Given the description of an element on the screen output the (x, y) to click on. 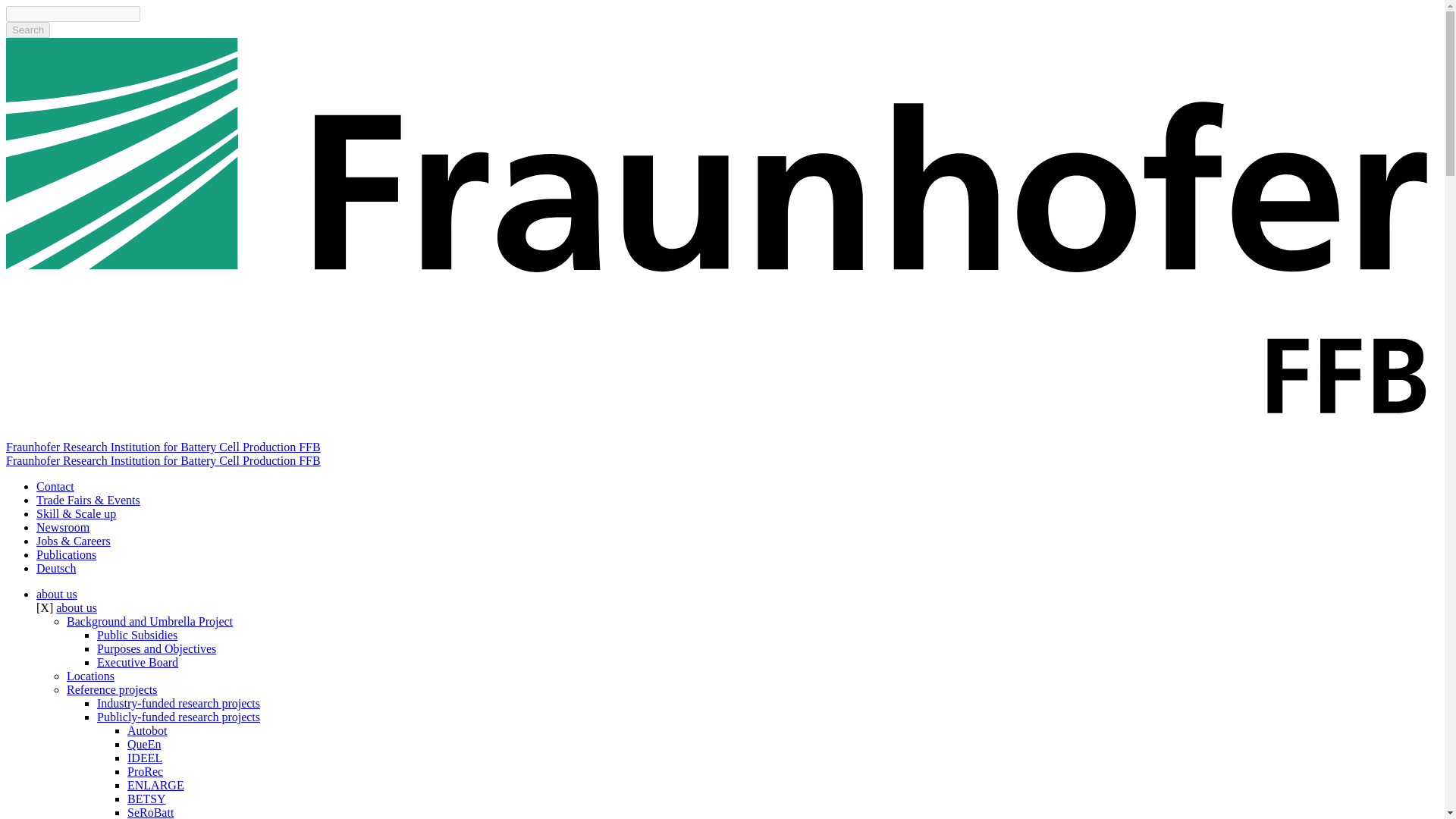
Search (27, 29)
ENLARGE (156, 784)
about us (76, 607)
Purposes and Objectives (156, 648)
Background and Umbrella Project (149, 621)
Reference projects (111, 689)
Industry-funded research projects (178, 703)
Newsroom (62, 526)
Public Subsidies (137, 634)
Publications (66, 554)
